Given the description of an element on the screen output the (x, y) to click on. 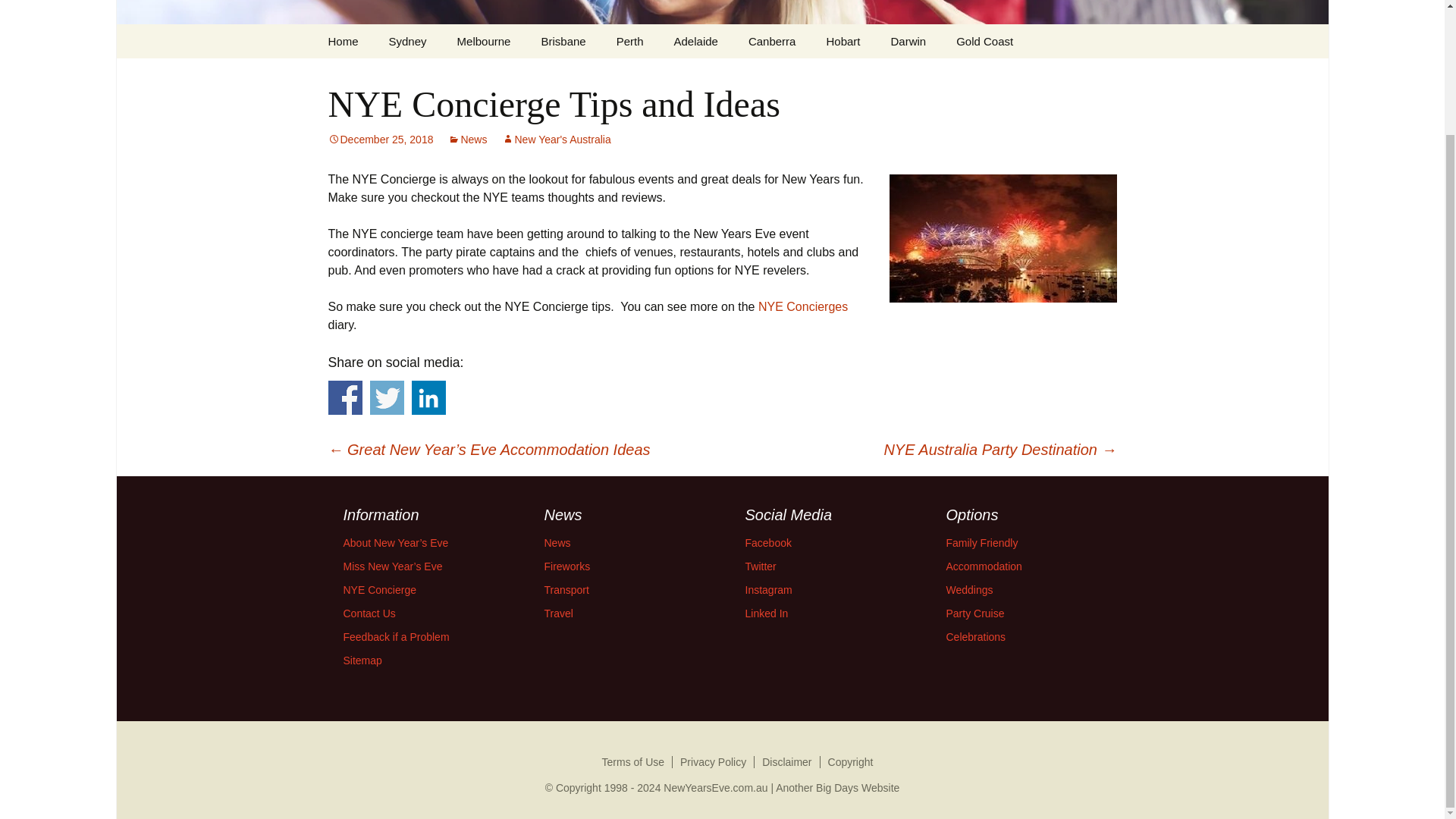
Gold Coast (983, 41)
Facebook (767, 542)
NYE Concierges (802, 306)
Sydney (408, 41)
Brisbane (562, 41)
Privacy Policy (713, 762)
NYE Concierge (379, 589)
Family Friendly (981, 542)
Celebrations (976, 636)
Share on Linkedin (428, 397)
Darwin (907, 41)
Sitemap (361, 660)
Transport (566, 589)
Instagram (768, 589)
